Given the description of an element on the screen output the (x, y) to click on. 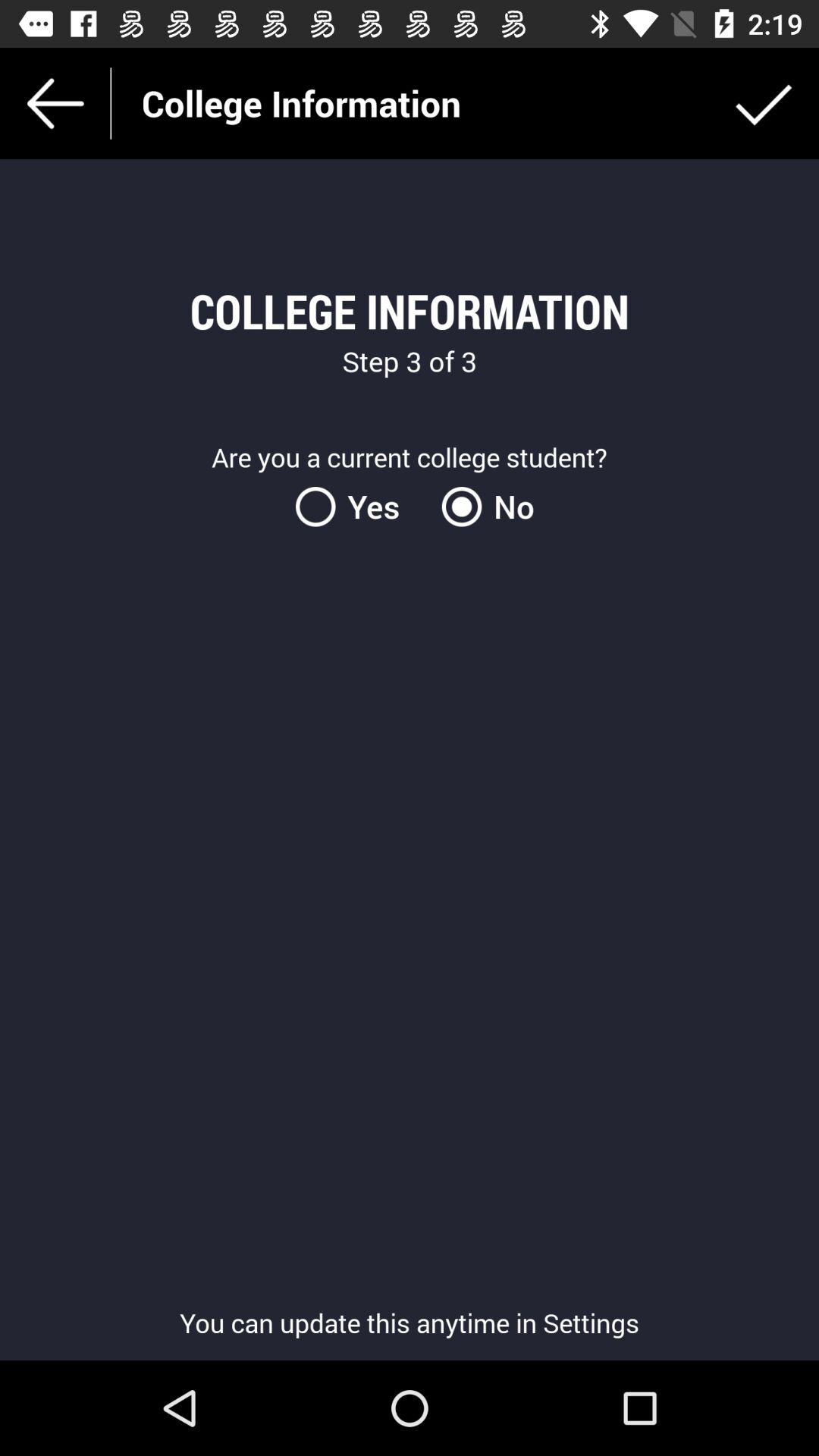
press item above college information icon (763, 103)
